Given the description of an element on the screen output the (x, y) to click on. 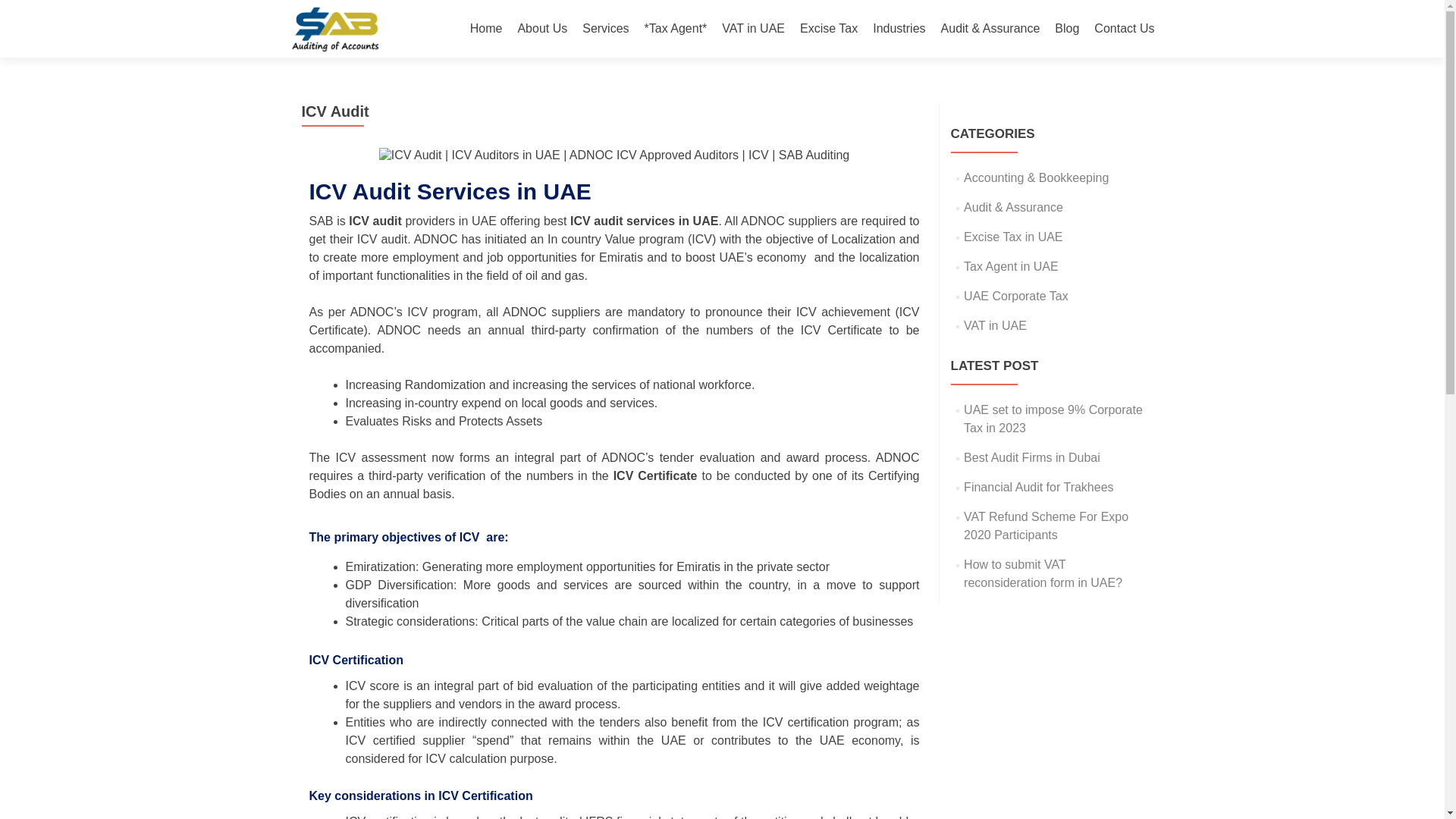
Excise Tax (828, 28)
VAT in UAE (753, 28)
Services (605, 28)
Industries (898, 28)
Home (486, 28)
About Us (541, 28)
